Given the description of an element on the screen output the (x, y) to click on. 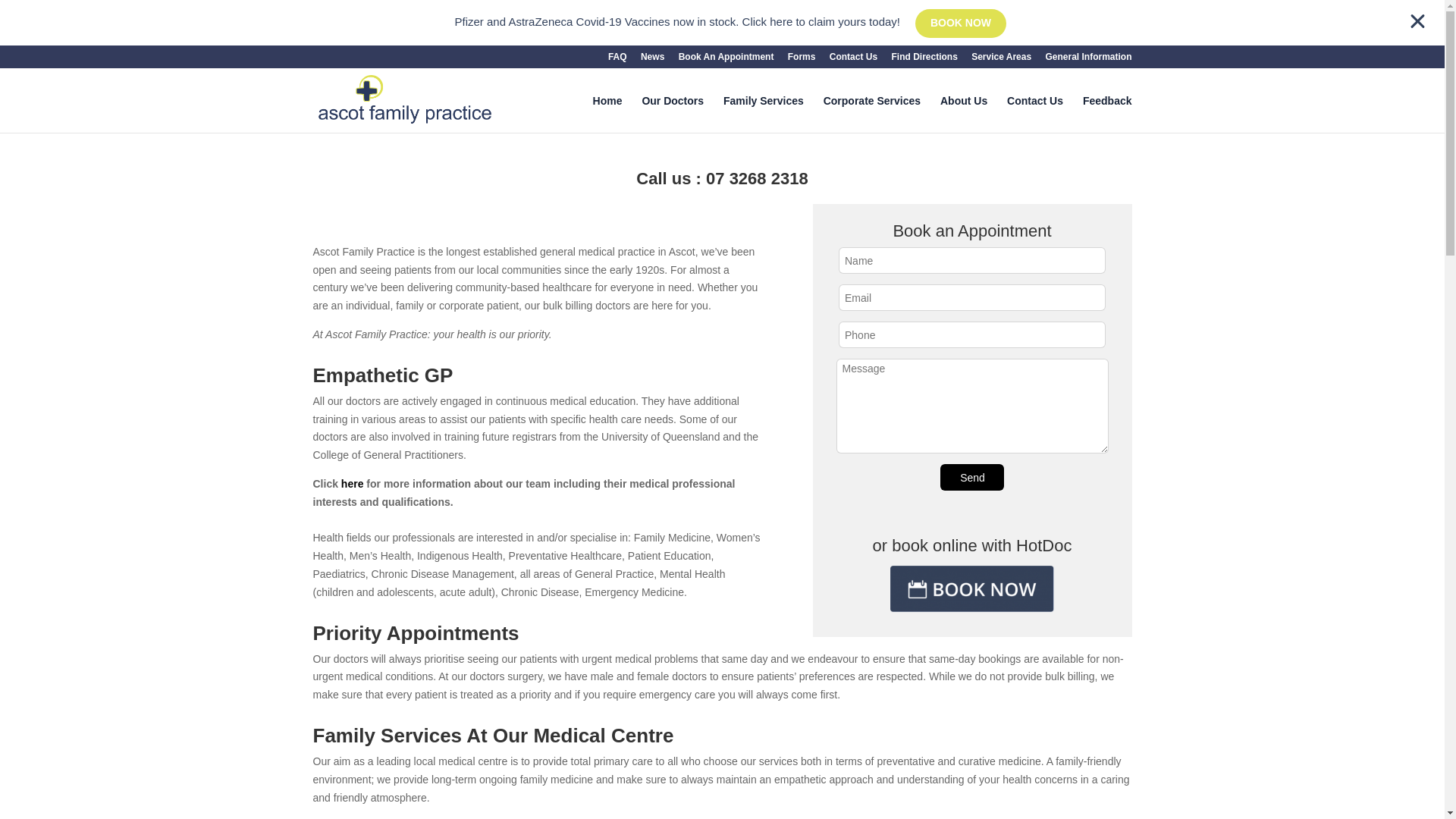
About Us (963, 113)
General Information (1088, 59)
Service Areas (1000, 59)
Contact Us (853, 59)
News (651, 59)
07 3268 2318 (757, 178)
Our Doctors (672, 113)
Feedback (1107, 113)
About Us (963, 113)
Send (972, 477)
